Given the description of an element on the screen output the (x, y) to click on. 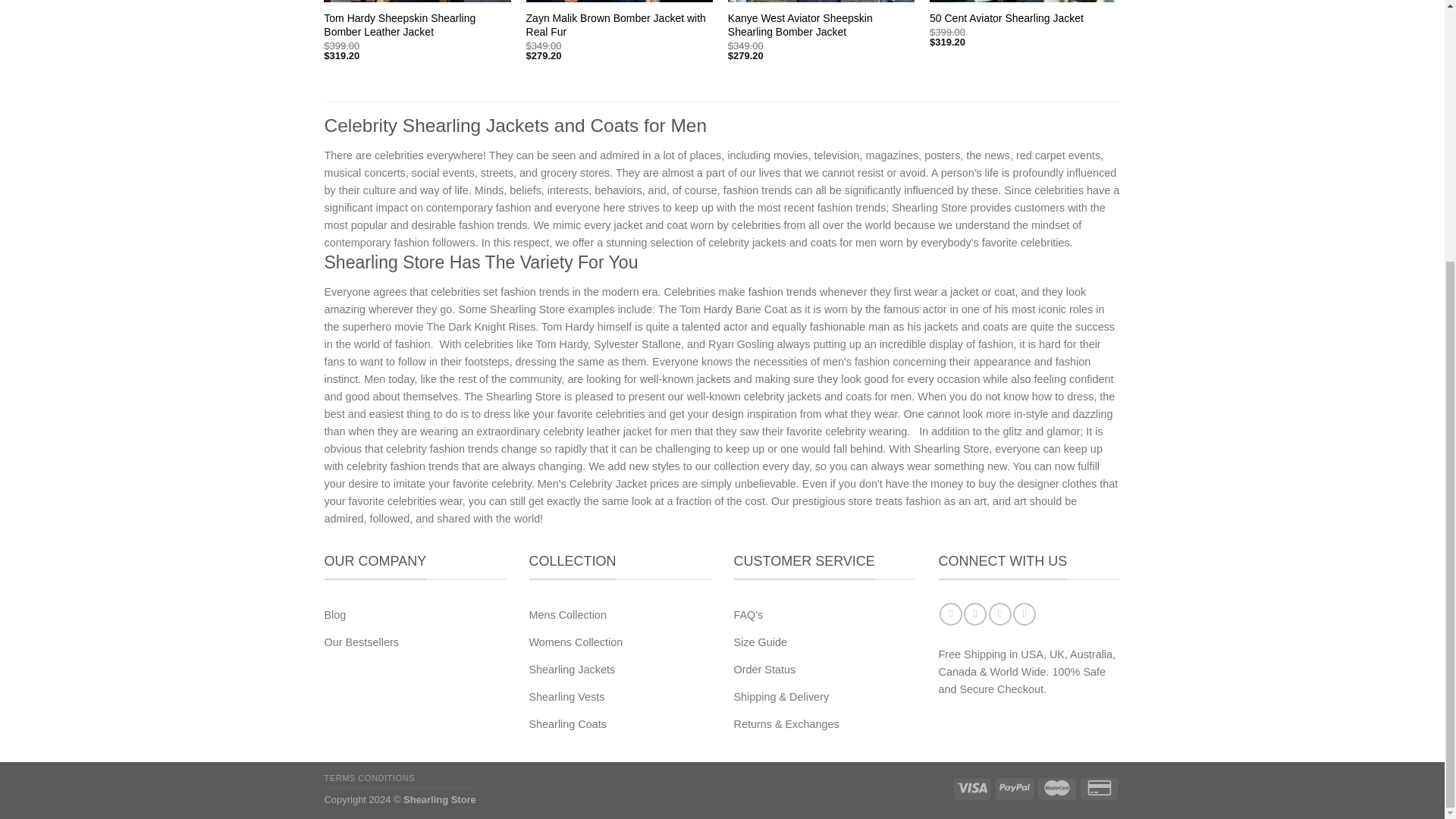
Send us an email (999, 613)
Follow on Pinterest (1024, 613)
Zayn Malik Brown Bomber Jacket with Real Fur (619, 24)
Follow on Instagram (975, 613)
Tom Hardy Sheepskin Shearling Bomber Leather Jacket (417, 24)
Follow on Facebook (950, 613)
